Given the description of an element on the screen output the (x, y) to click on. 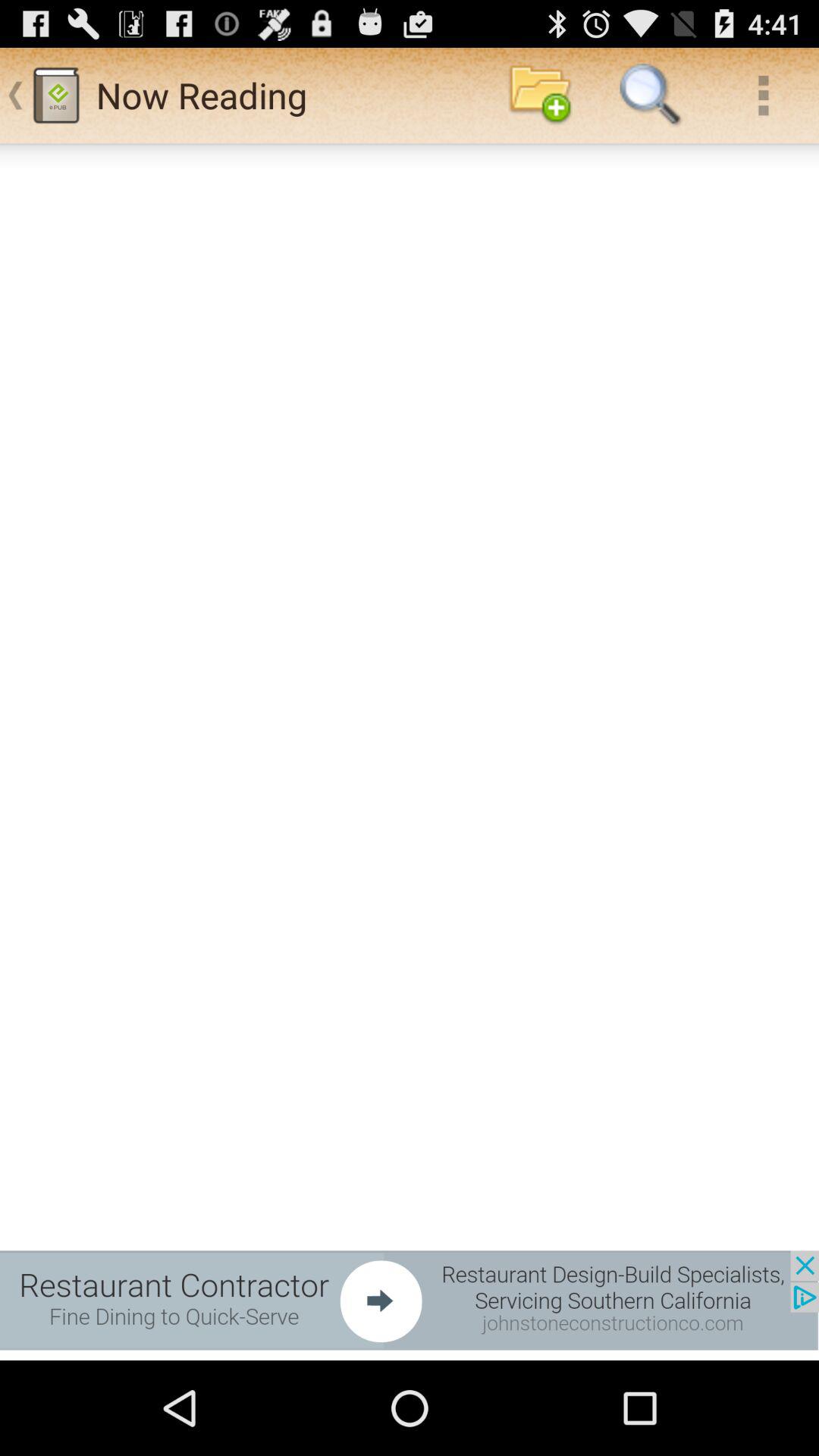
select app next to now reading app (540, 95)
